Given the description of an element on the screen output the (x, y) to click on. 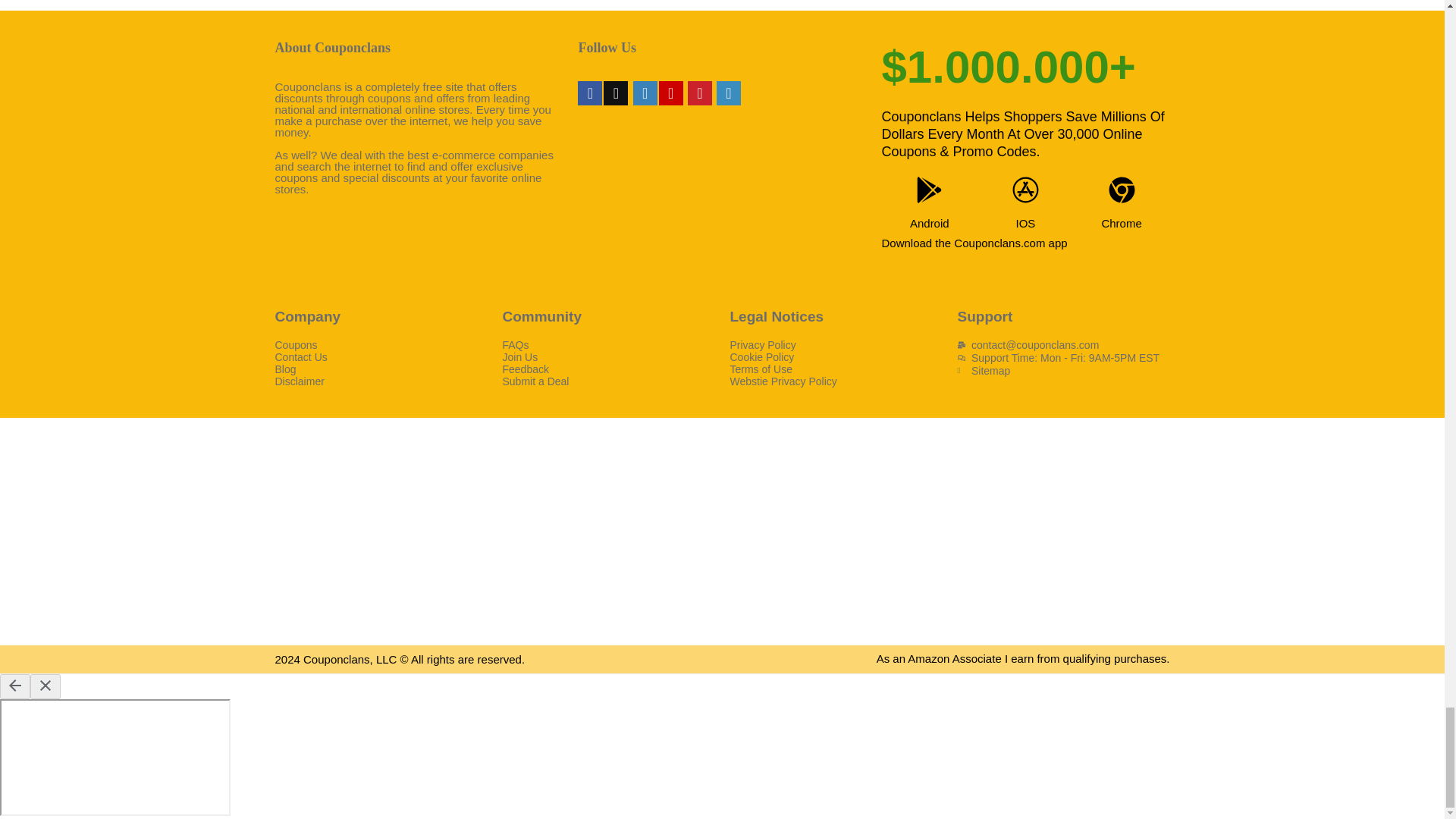
Facebook (590, 93)
twitter (615, 93)
